Given the description of an element on the screen output the (x, y) to click on. 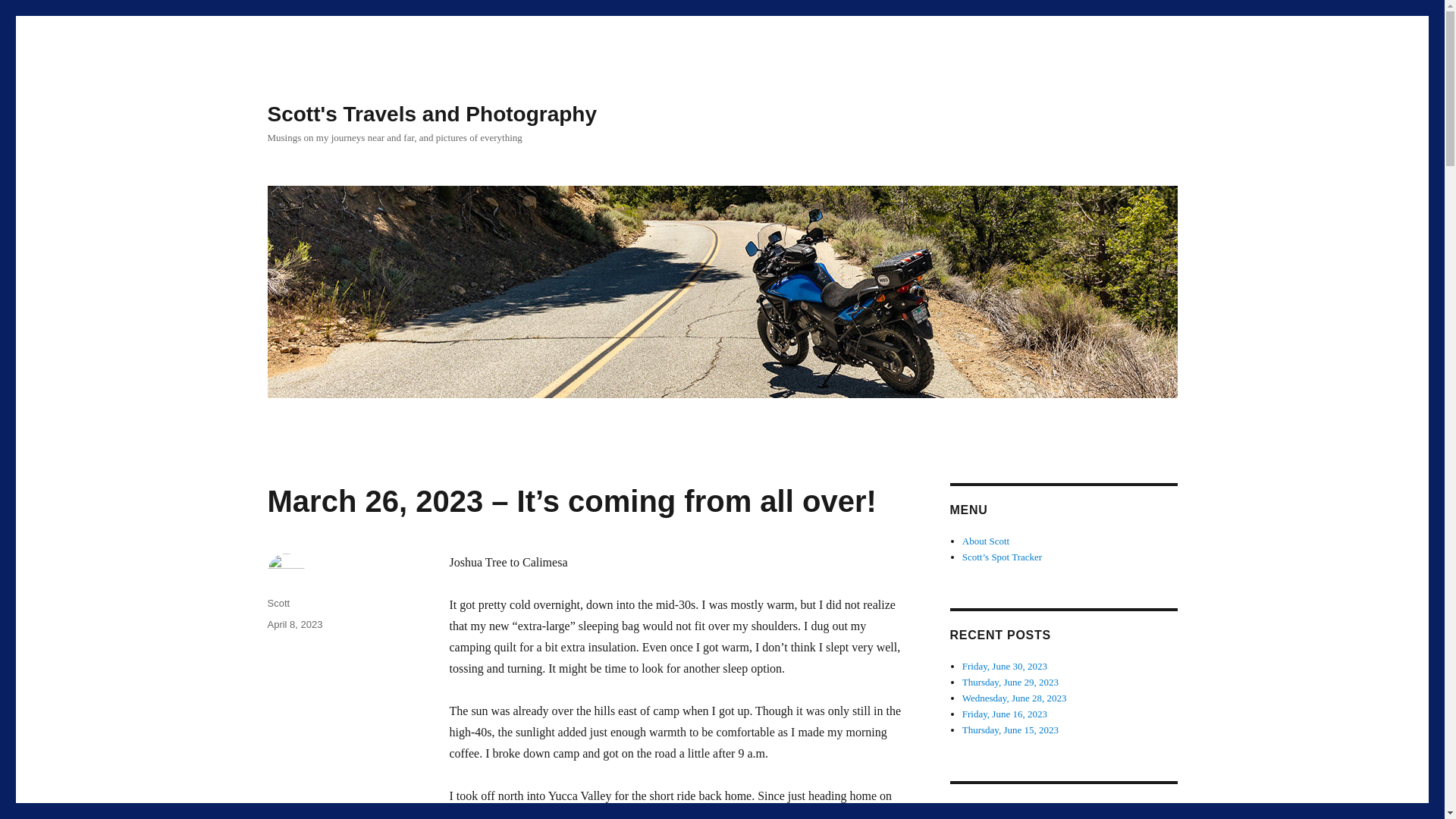
Friday, June 16, 2023 (1004, 713)
Wednesday, June 28, 2023 (1014, 697)
Thursday, June 15, 2023 (1010, 729)
Thursday, June 29, 2023 (1010, 681)
Scott (277, 603)
April 8, 2023 (293, 624)
About Scott (985, 541)
Scott's Travels and Photography (431, 114)
Friday, June 30, 2023 (1004, 665)
